Given the description of an element on the screen output the (x, y) to click on. 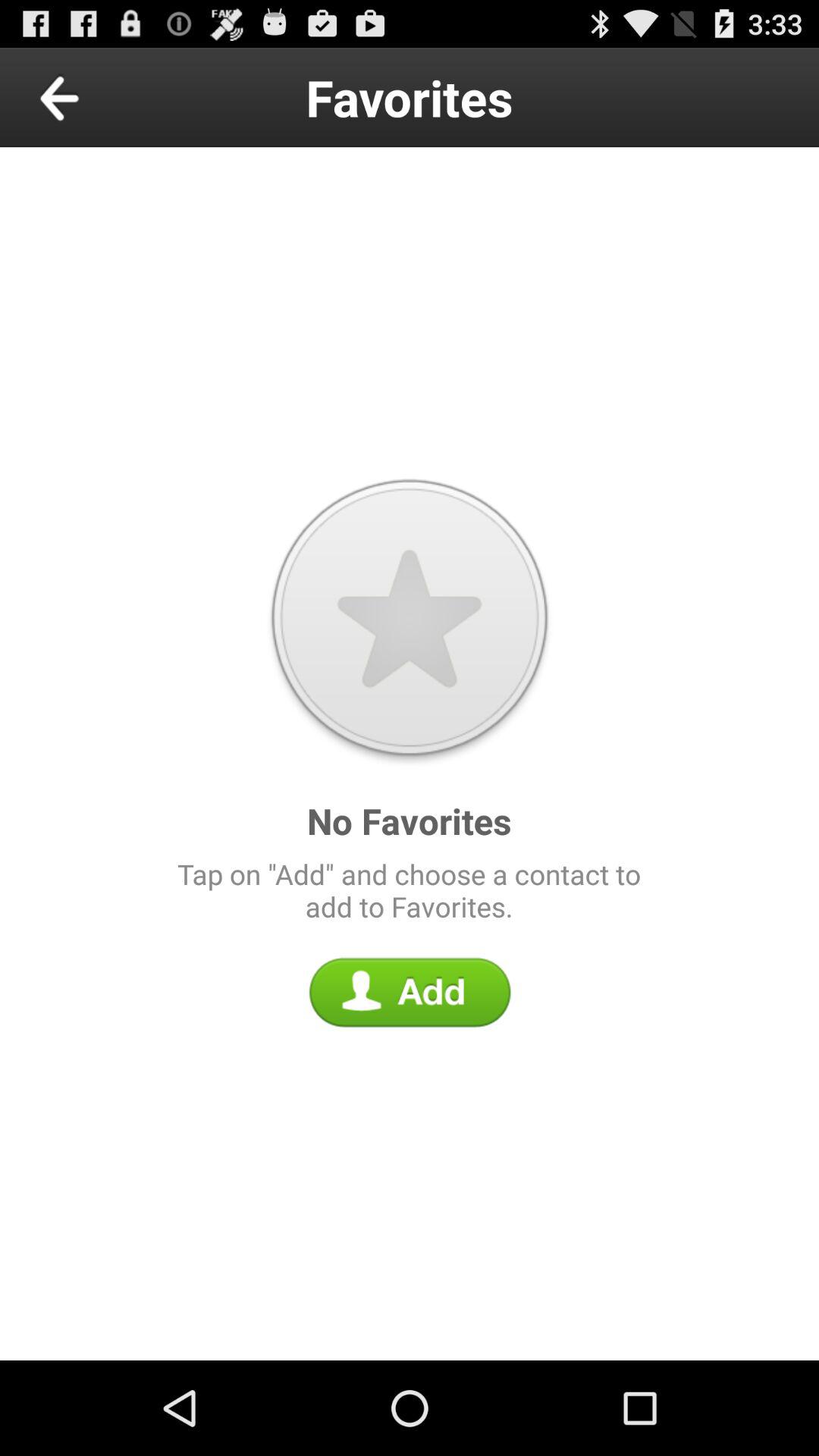
choose icon at the top left corner (94, 97)
